Given the description of an element on the screen output the (x, y) to click on. 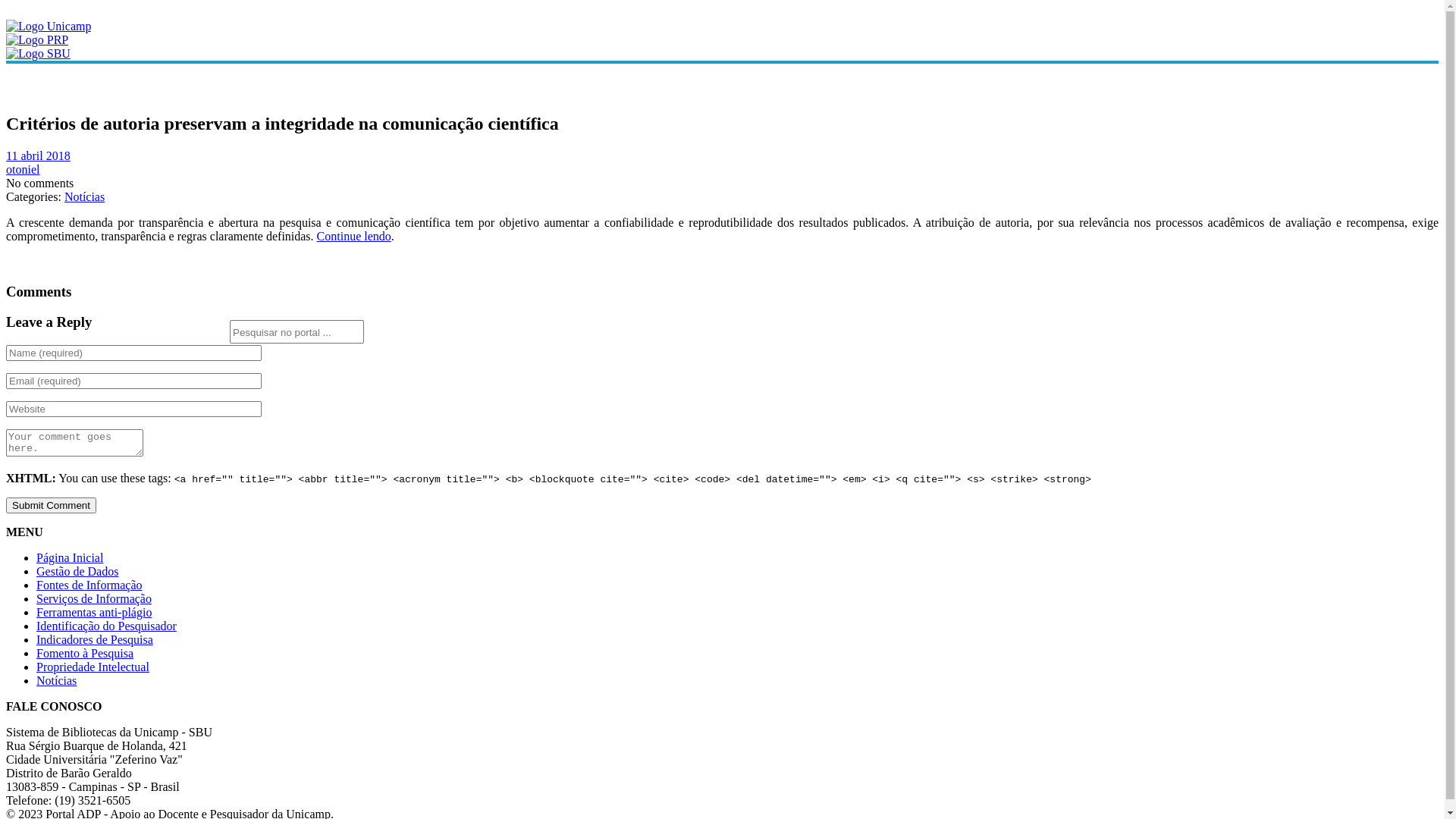
otoniel Element type: text (22, 169)
Logo SBU Element type: hover (38, 53)
Propriedade Intelectual Element type: text (92, 666)
11 abril 2018 Element type: text (38, 155)
Continue lendo Element type: text (353, 235)
Submit Comment Element type: text (51, 505)
Logo PRP Element type: hover (37, 39)
Digitar o termo e teclar enter. Element type: hover (296, 331)
Logo Unicamp Element type: hover (48, 25)
Indicadores de Pesquisa Element type: text (94, 639)
